Given the description of an element on the screen output the (x, y) to click on. 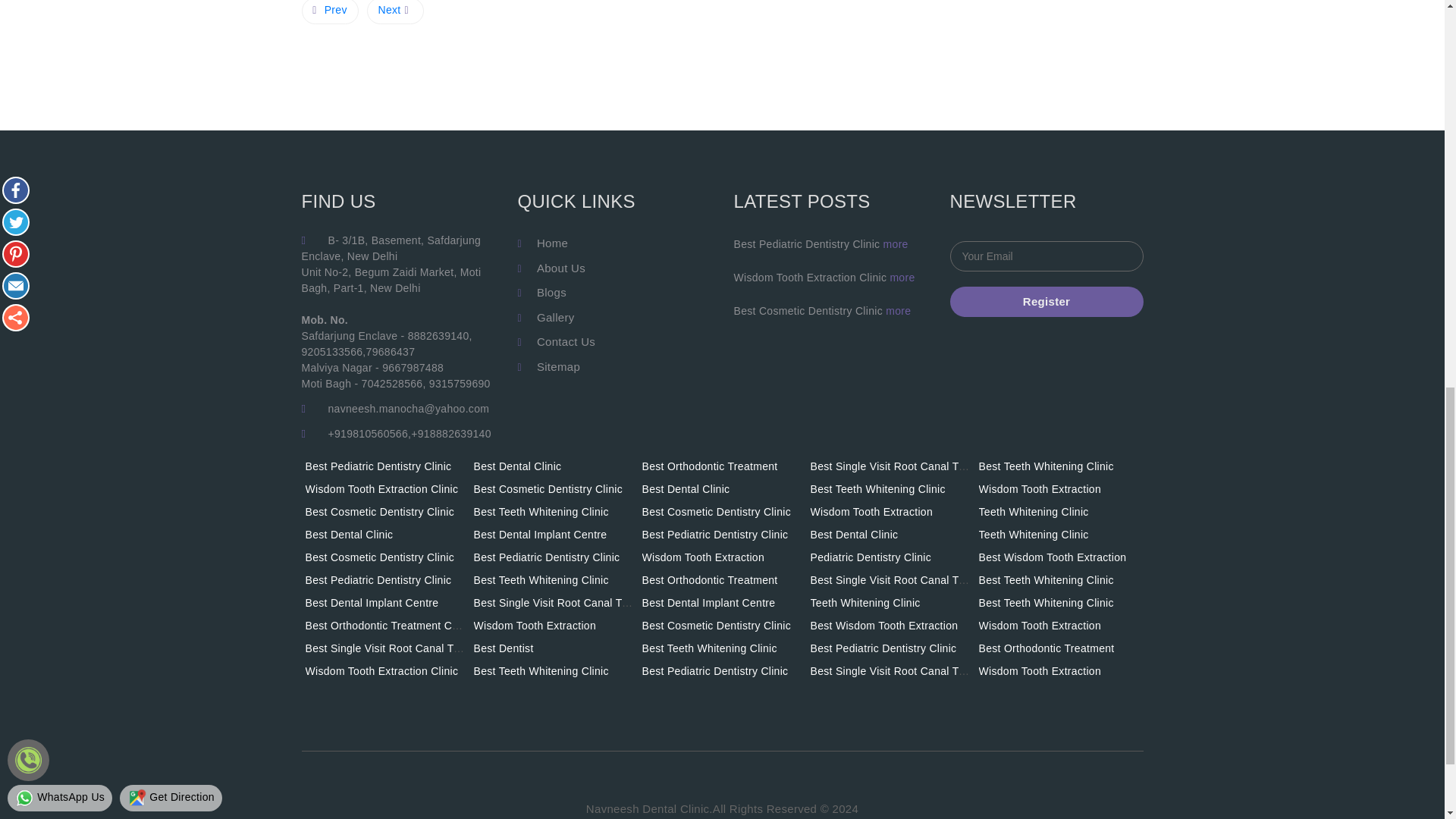
Prev (329, 12)
Next (394, 12)
Home (552, 242)
About Us (561, 267)
